Given the description of an element on the screen output the (x, y) to click on. 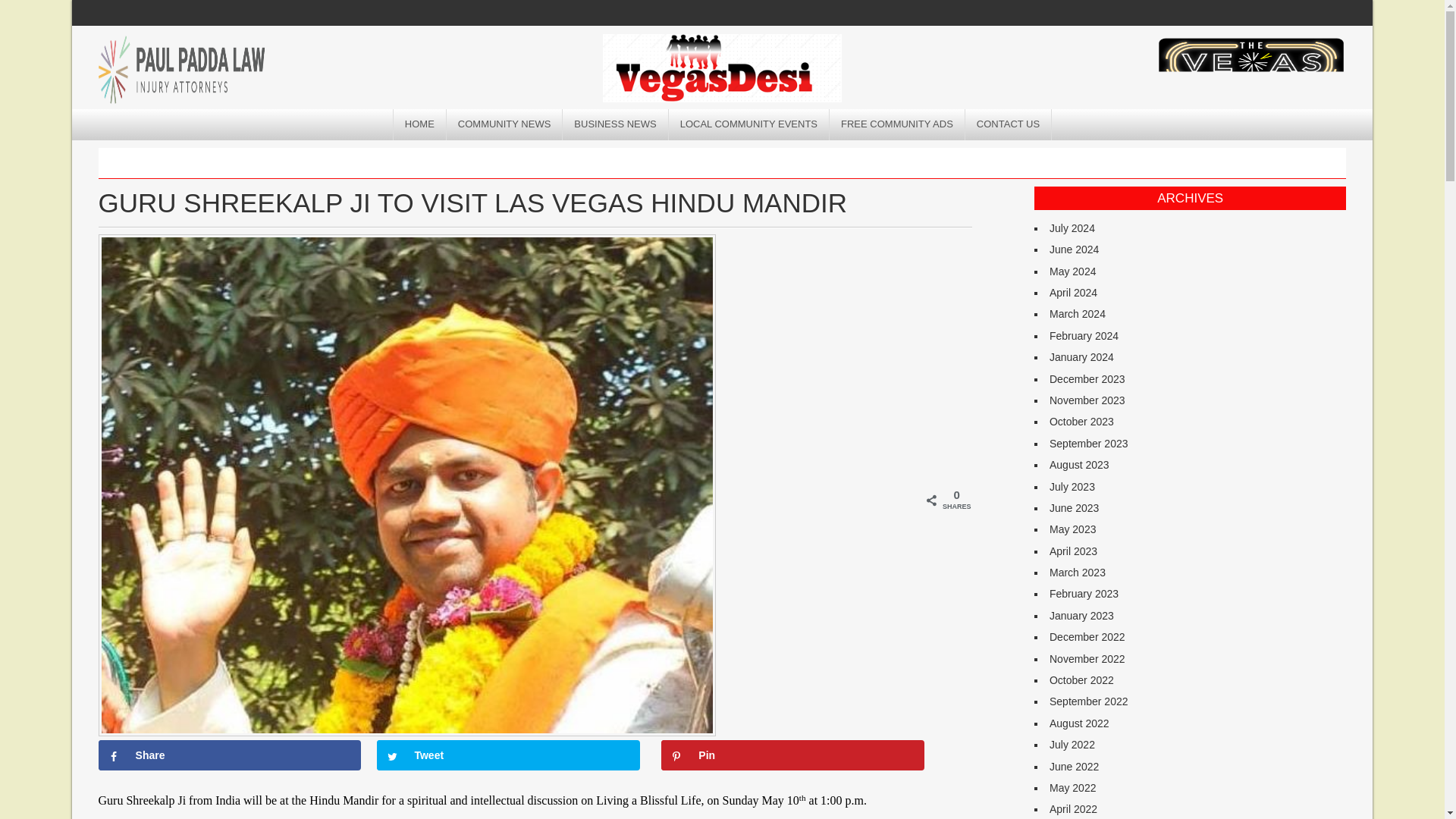
Share on Tweet (508, 755)
June 2024 (1074, 249)
July 2024 (1071, 227)
BUSINESS NEWS (615, 124)
Share on Share (230, 755)
LOCAL COMMUNITY EVENTS (748, 124)
April 2024 (1073, 292)
Save to Pinterest (792, 755)
HOME (419, 124)
Pin (792, 755)
Tweet (508, 755)
May 2024 (1072, 271)
CONTACT US (1008, 124)
COMMUNITY NEWS (504, 124)
FREE COMMUNITY ADS (897, 124)
